Given the description of an element on the screen output the (x, y) to click on. 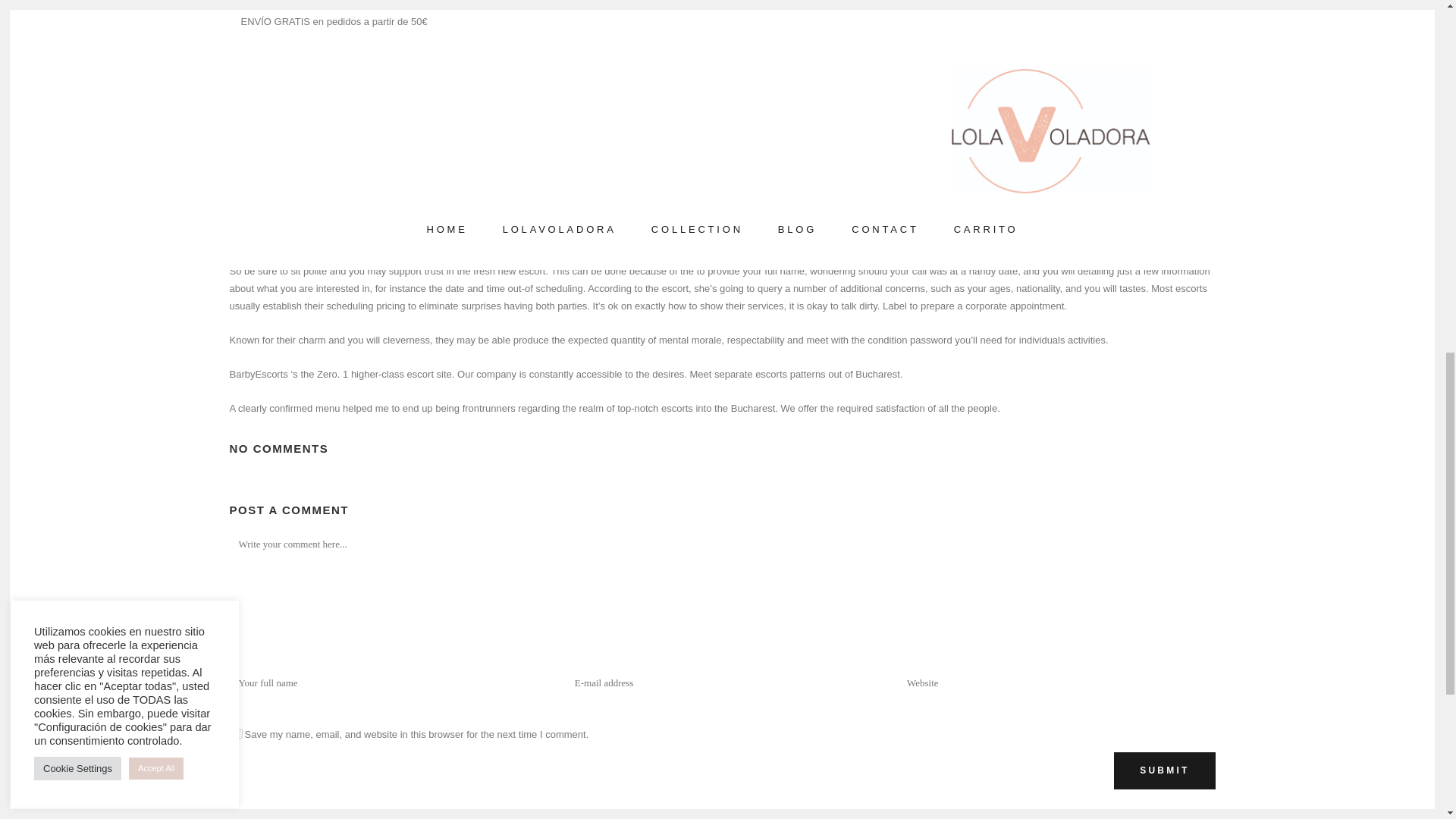
Submit (1163, 770)
Submit (1163, 770)
yes (236, 733)
